Given the description of an element on the screen output the (x, y) to click on. 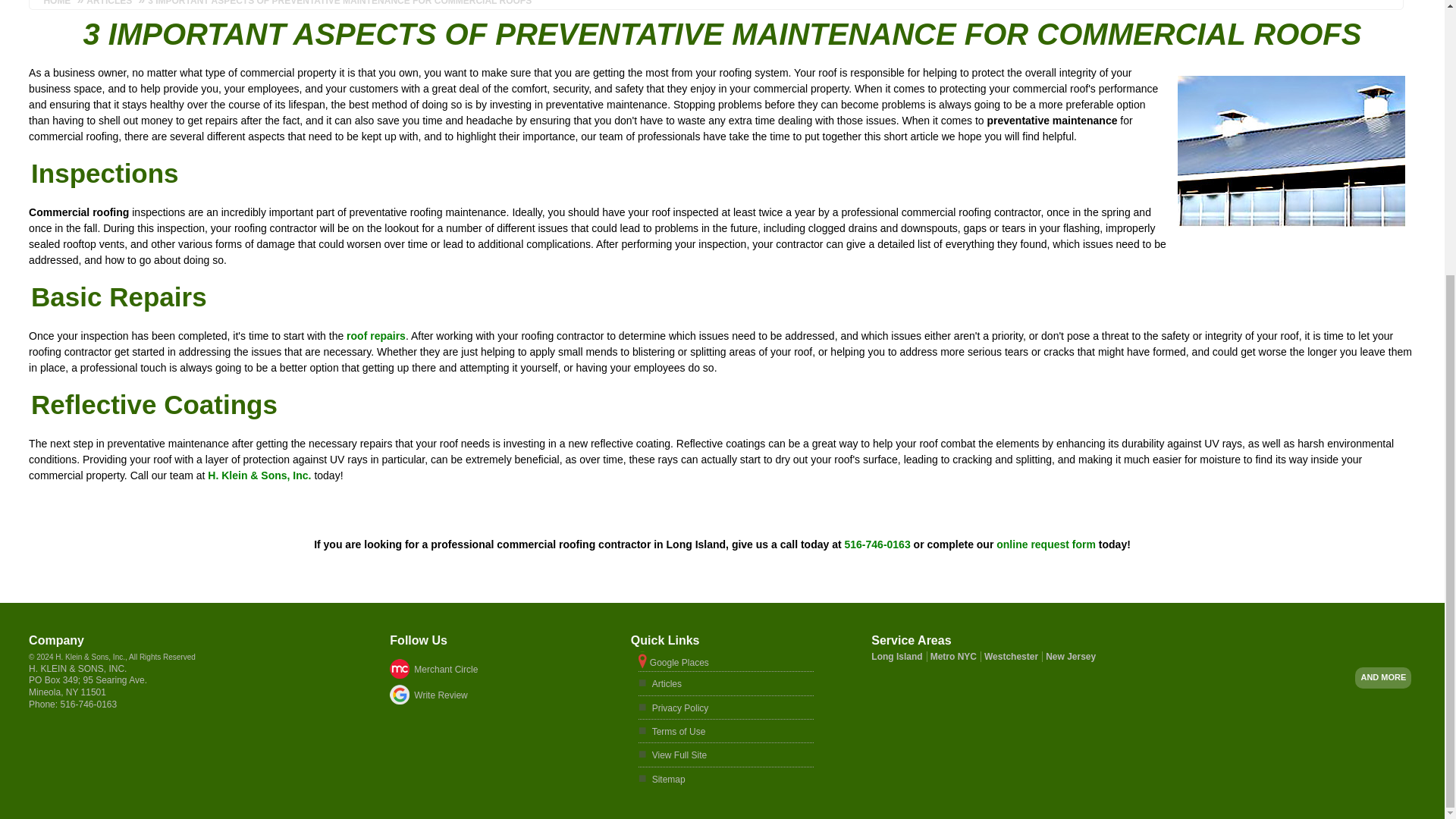
roof repairs (376, 336)
Merchant Circle (492, 669)
Write Review (492, 695)
516-746-0163 (87, 704)
ARTICLES (107, 3)
516-746-0163 (877, 544)
HOME (60, 3)
online request form (1045, 544)
